Given the description of an element on the screen output the (x, y) to click on. 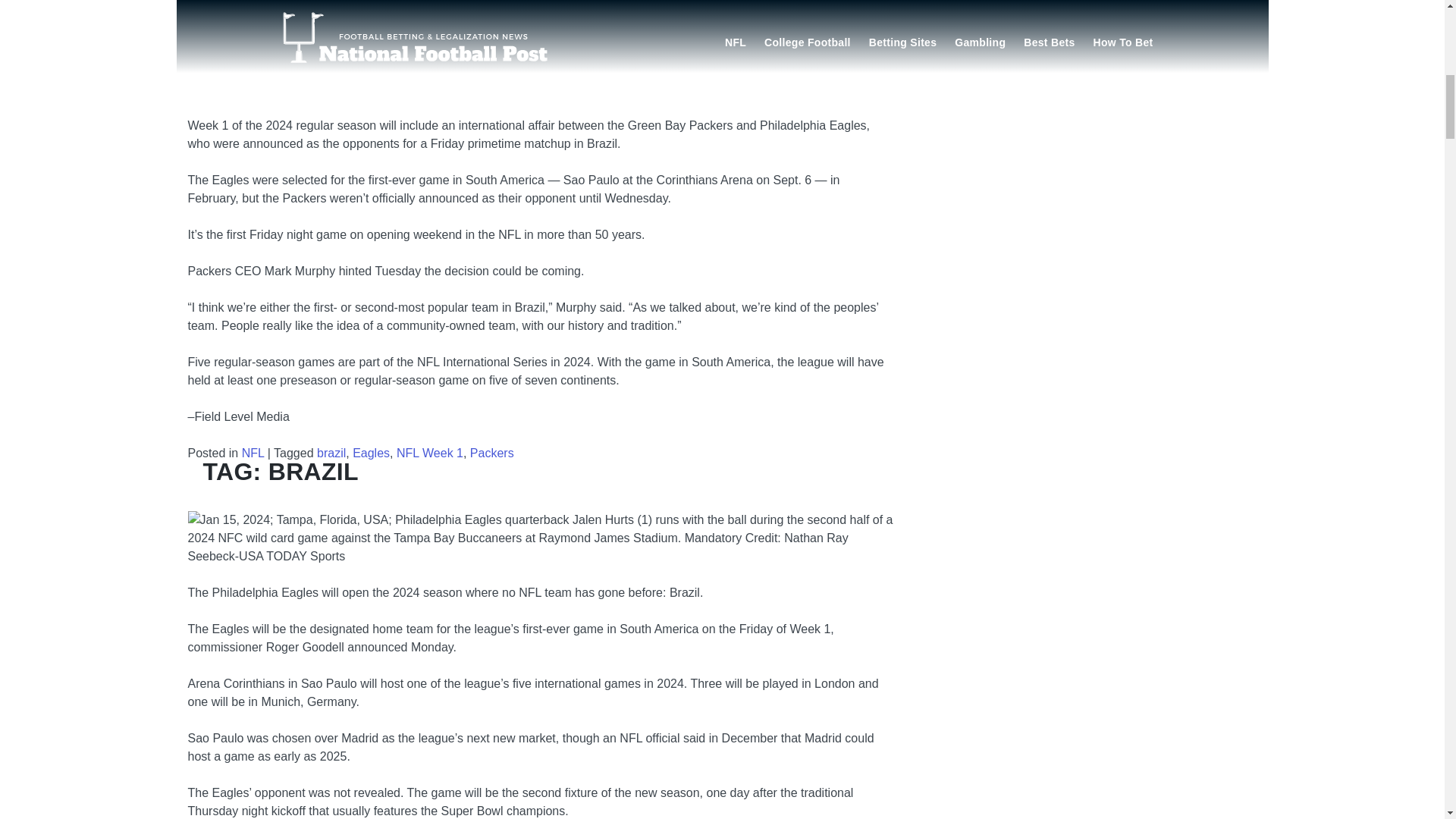
EAGLES TO PLAY IN SAO PAULO, BRAZIL, ON FRIDAY OF WEEK 1 (597, 589)
10 April 2024 (295, 155)
NFL Week 1 (429, 452)
Field Level Media (405, 155)
6 February 2024 (304, 623)
PACKERS, EAGLES SET FOR FRIDAY NIGHT OPENER IN BRAZIL (586, 122)
Eagles (371, 452)
NFL (252, 452)
brazil (331, 452)
Packers (491, 452)
